Given the description of an element on the screen output the (x, y) to click on. 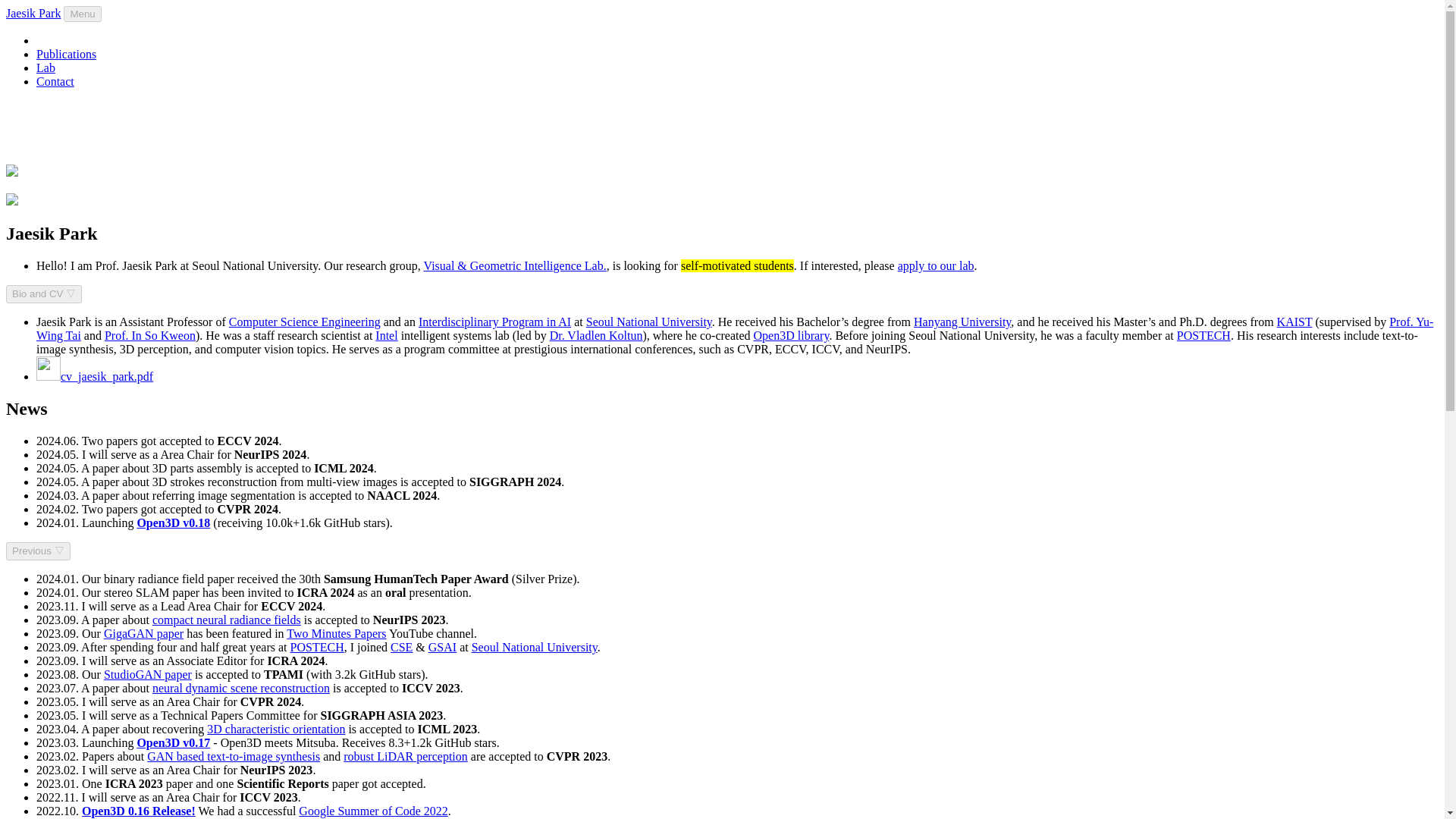
GigaGAN paper (143, 633)
apply to our lab (936, 265)
Contact (55, 81)
Intel (386, 335)
POSTECH (1203, 335)
Hanyang University (962, 321)
CSE (401, 646)
GSAI (442, 646)
Publications (66, 53)
Jaesik Park (33, 12)
Menu (82, 13)
StudioGAN paper (147, 674)
Seoul National University (648, 321)
Dr. Vladlen Koltun (596, 335)
Open3D v0.18 (172, 522)
